Given the description of an element on the screen output the (x, y) to click on. 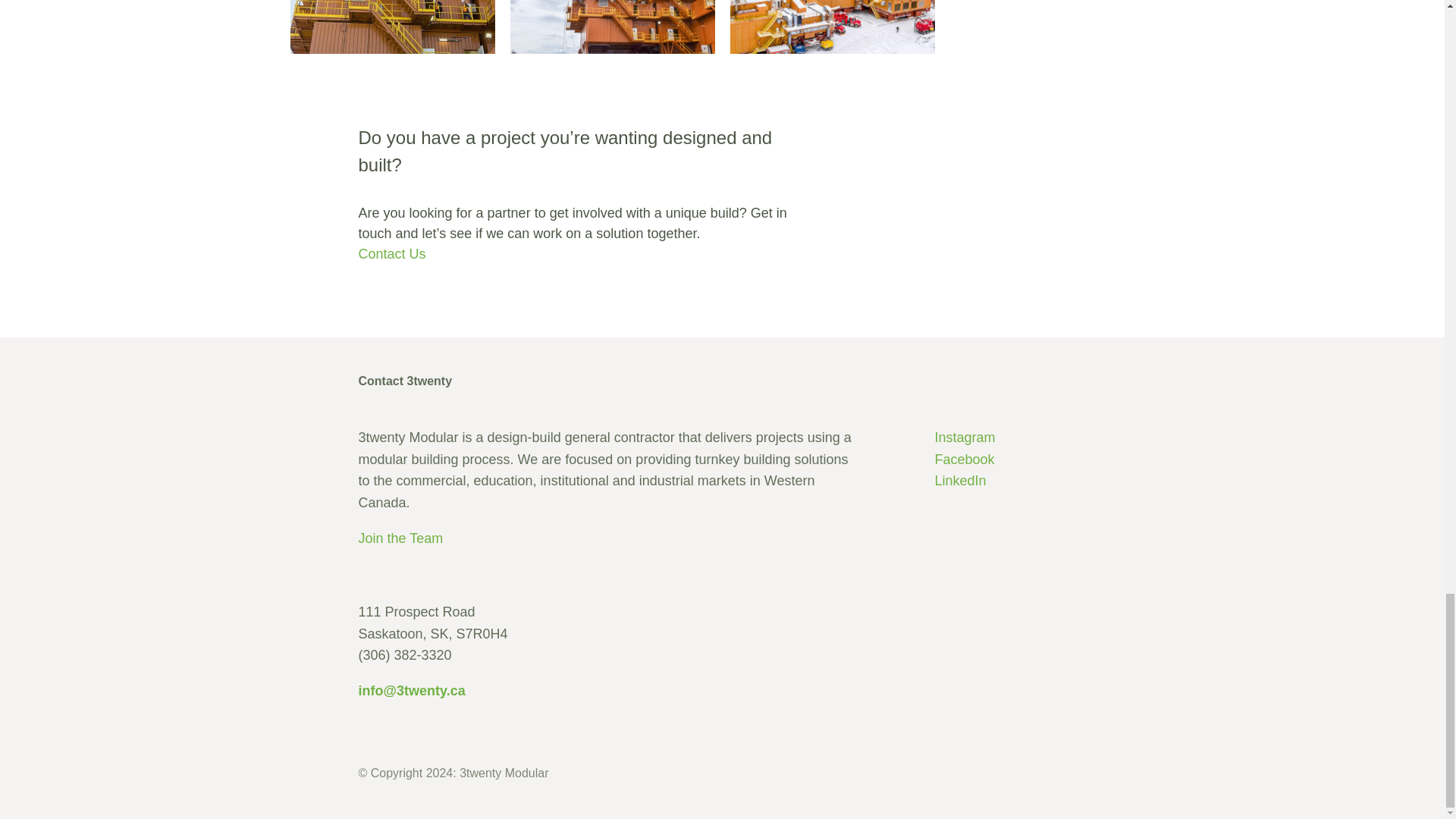
Facebook (964, 459)
LinkedIn (959, 480)
Instagram (964, 437)
